Given the description of an element on the screen output the (x, y) to click on. 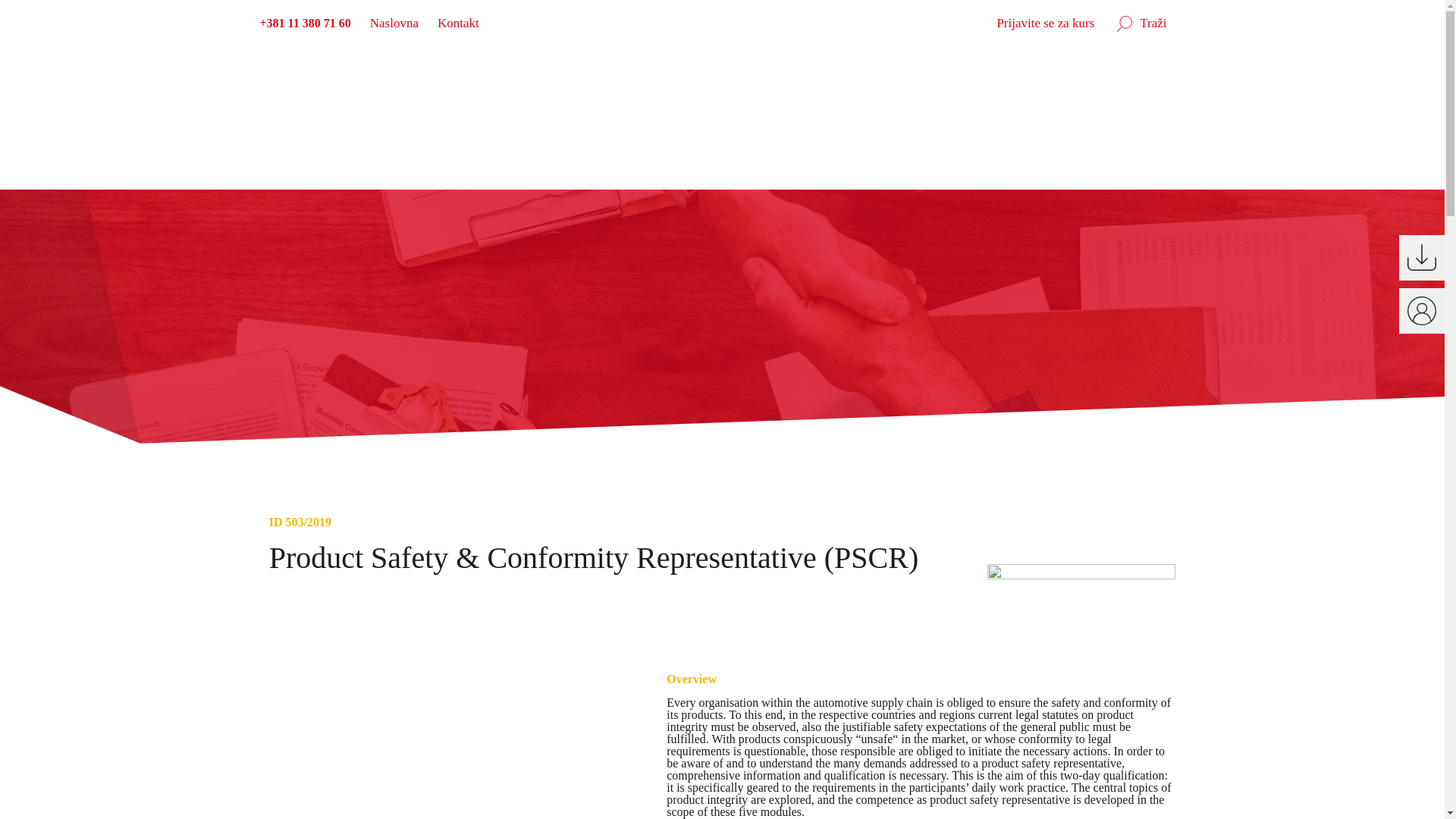
Kontakt (462, 22)
Prijavite se za kurs (1049, 22)
Naslovna (398, 22)
